Given the description of an element on the screen output the (x, y) to click on. 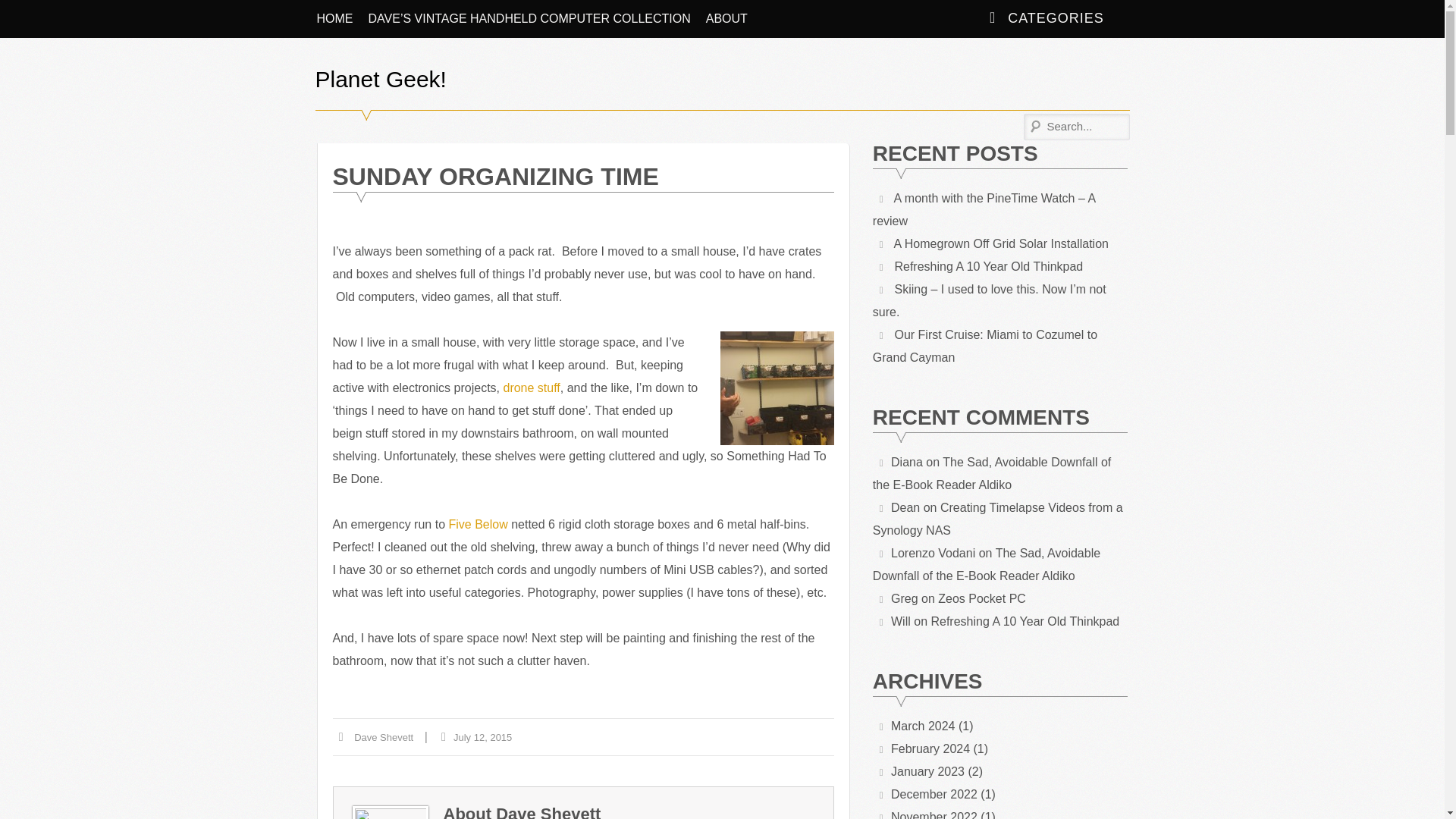
HOME (334, 18)
Posts by Dave Shevett (547, 811)
ABOUT (726, 18)
